Given the description of an element on the screen output the (x, y) to click on. 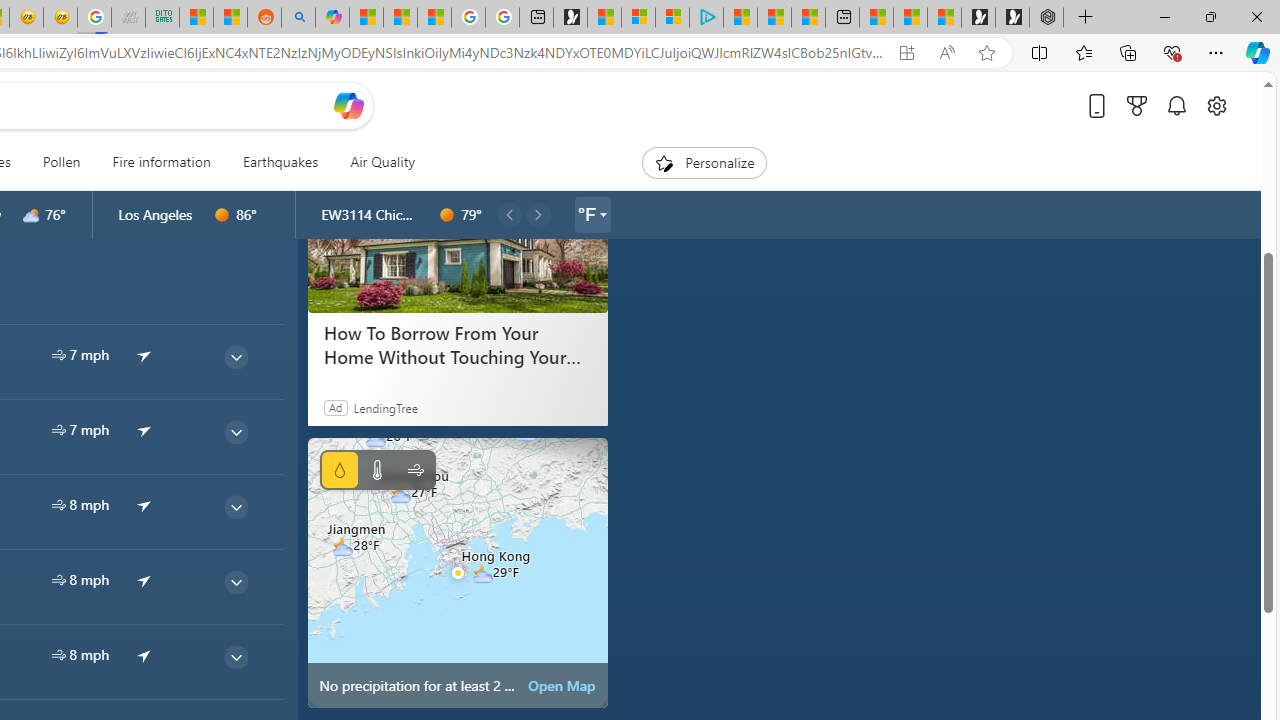
common/carouselChevron (538, 214)
Open Map (561, 685)
No precipitation for at least 2 hours (457, 572)
Temperature (376, 470)
d3000 (31, 215)
Earthquakes (279, 162)
Microsoft Copilot in Bing (332, 17)
